Given the description of an element on the screen output the (x, y) to click on. 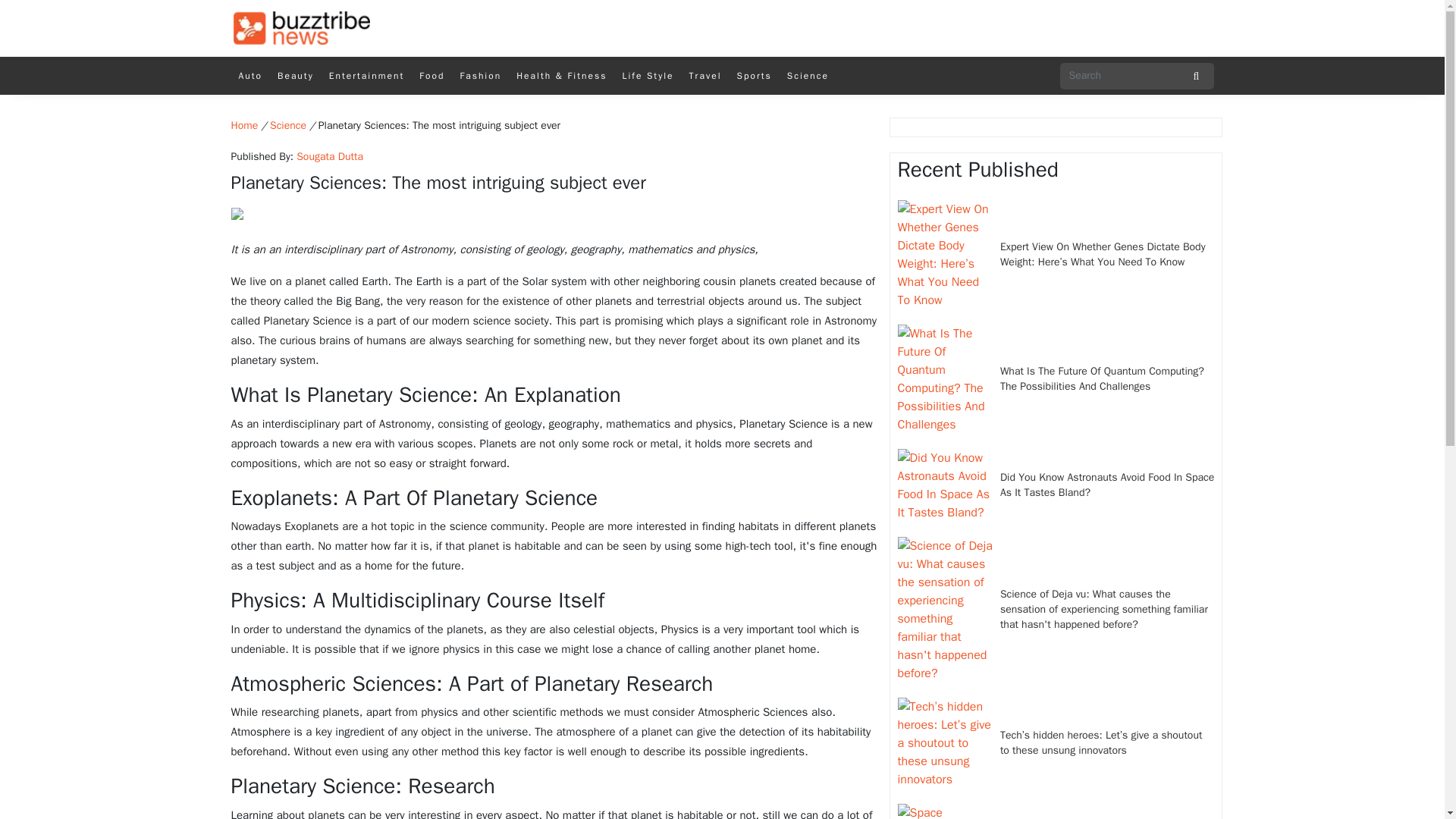
Beauty (295, 75)
Life Style (647, 75)
Fashion (479, 75)
Science (806, 75)
Entertainment (366, 75)
Home (243, 124)
Sports (753, 75)
Travel (705, 75)
Food (431, 75)
